Given the description of an element on the screen output the (x, y) to click on. 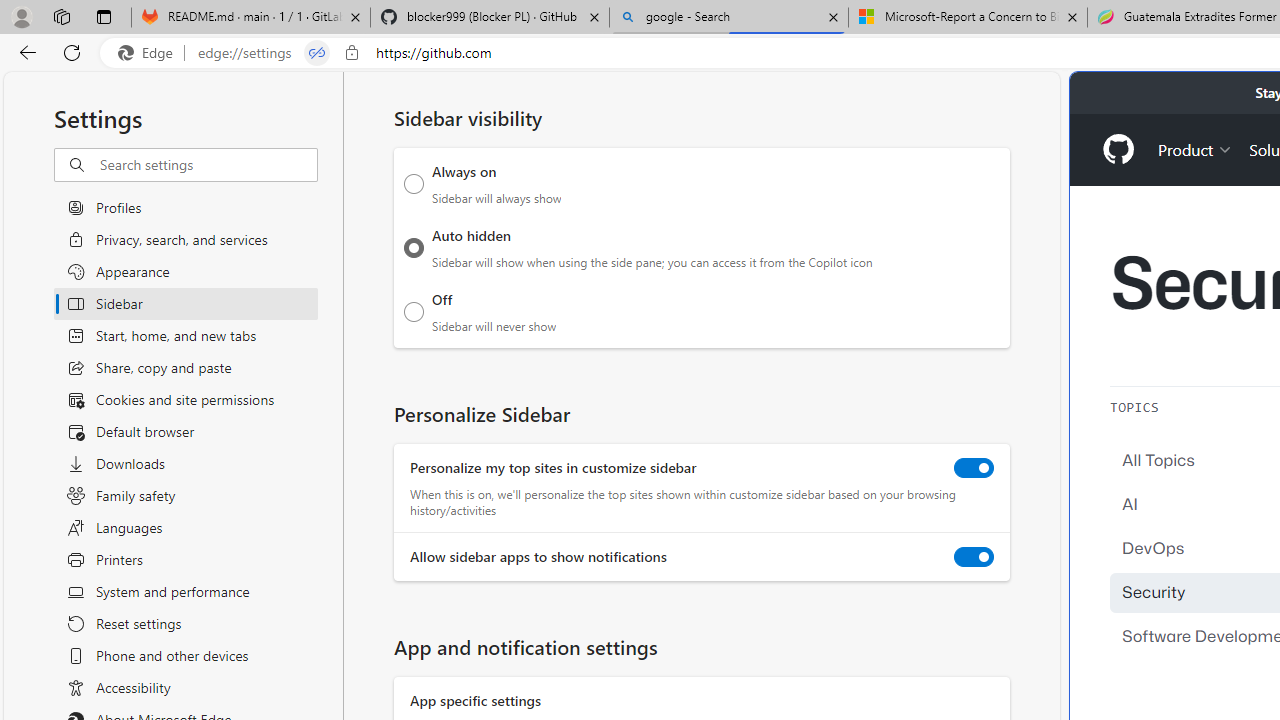
Always on Sidebar will always show (413, 183)
Product (1195, 148)
